Given the description of an element on the screen output the (x, y) to click on. 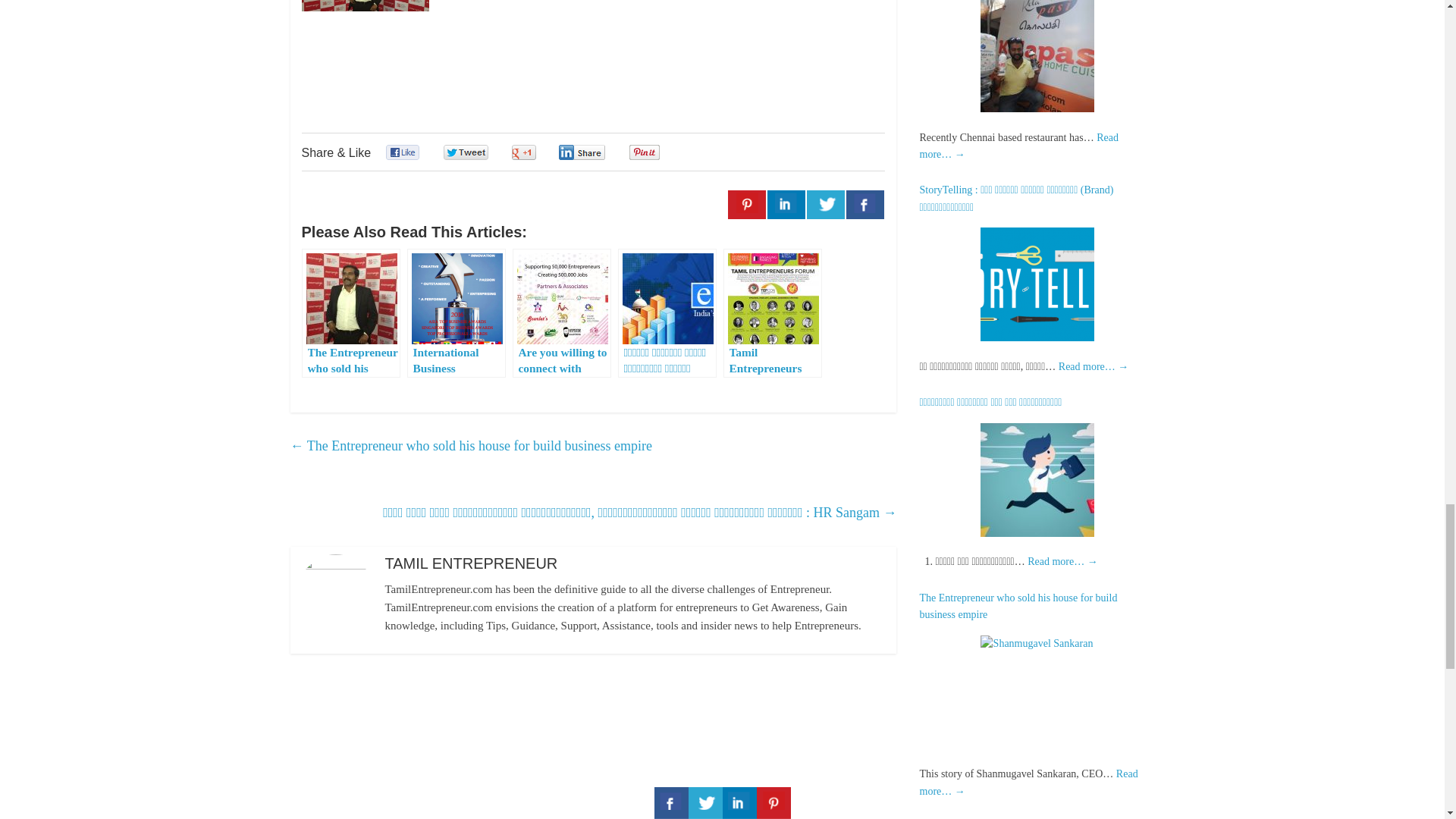
Be the first one to tweet this article! (481, 152)
Share On Linkedin (786, 204)
Share On Twitter (825, 204)
Vuukle Emotes Widget (529, 72)
Share On Pinterest (746, 204)
Share On Facebook (864, 204)
